Given the description of an element on the screen output the (x, y) to click on. 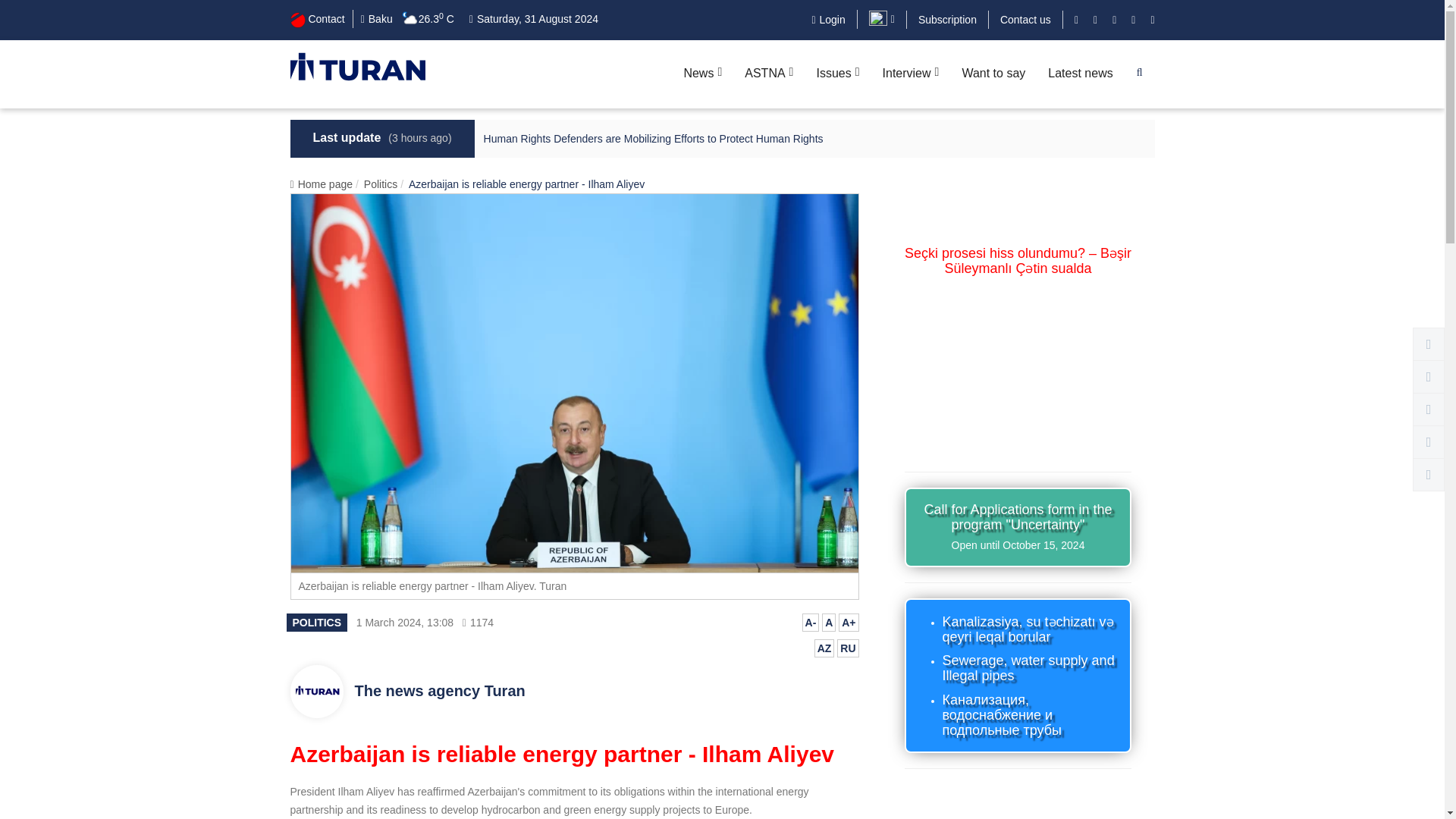
Login (827, 19)
News (702, 74)
ASTNA (769, 74)
Subscription (947, 19)
Contact (316, 18)
Contact us (1025, 19)
YouTube video player (1017, 367)
